Given the description of an element on the screen output the (x, y) to click on. 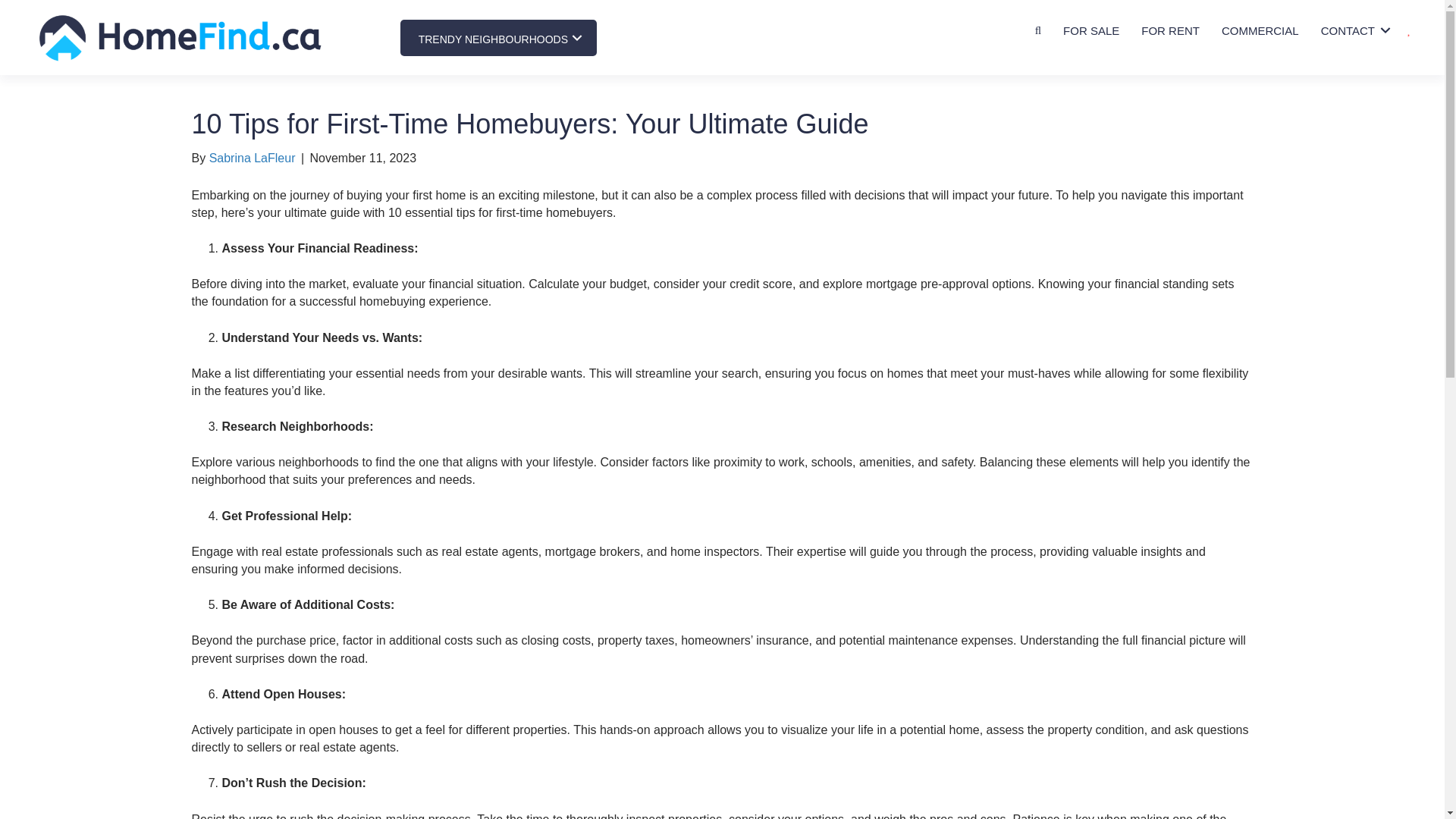
122-homefind.ca-logo (180, 37)
TRENDY NEIGHBOURHOODS (498, 37)
FOR RENT (1170, 29)
COMMERCIAL (1259, 29)
CONTACT (1353, 29)
FOR SALE (1090, 29)
Sabrina LaFleur (252, 157)
